Given the description of an element on the screen output the (x, y) to click on. 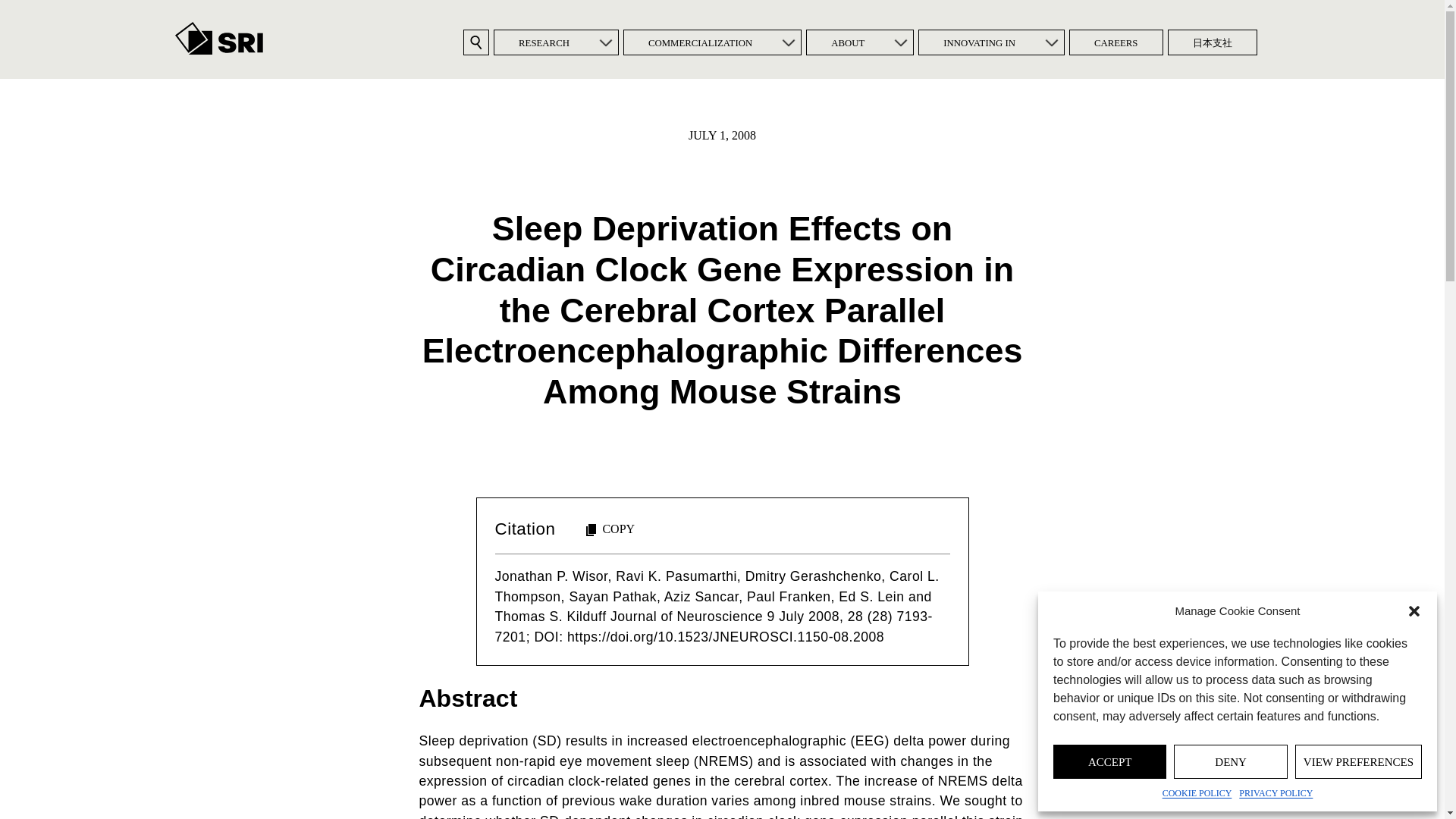
COOKIE POLICY (1196, 793)
RESEARCH (544, 42)
INNOVATING IN (978, 42)
PRIVACY POLICY (1276, 793)
ACCEPT (1109, 761)
COMMERCIALIZATION (700, 42)
Subscribe (622, 460)
ABOUT (847, 42)
VIEW PREFERENCES (1358, 761)
DENY (1230, 761)
